Given the description of an element on the screen output the (x, y) to click on. 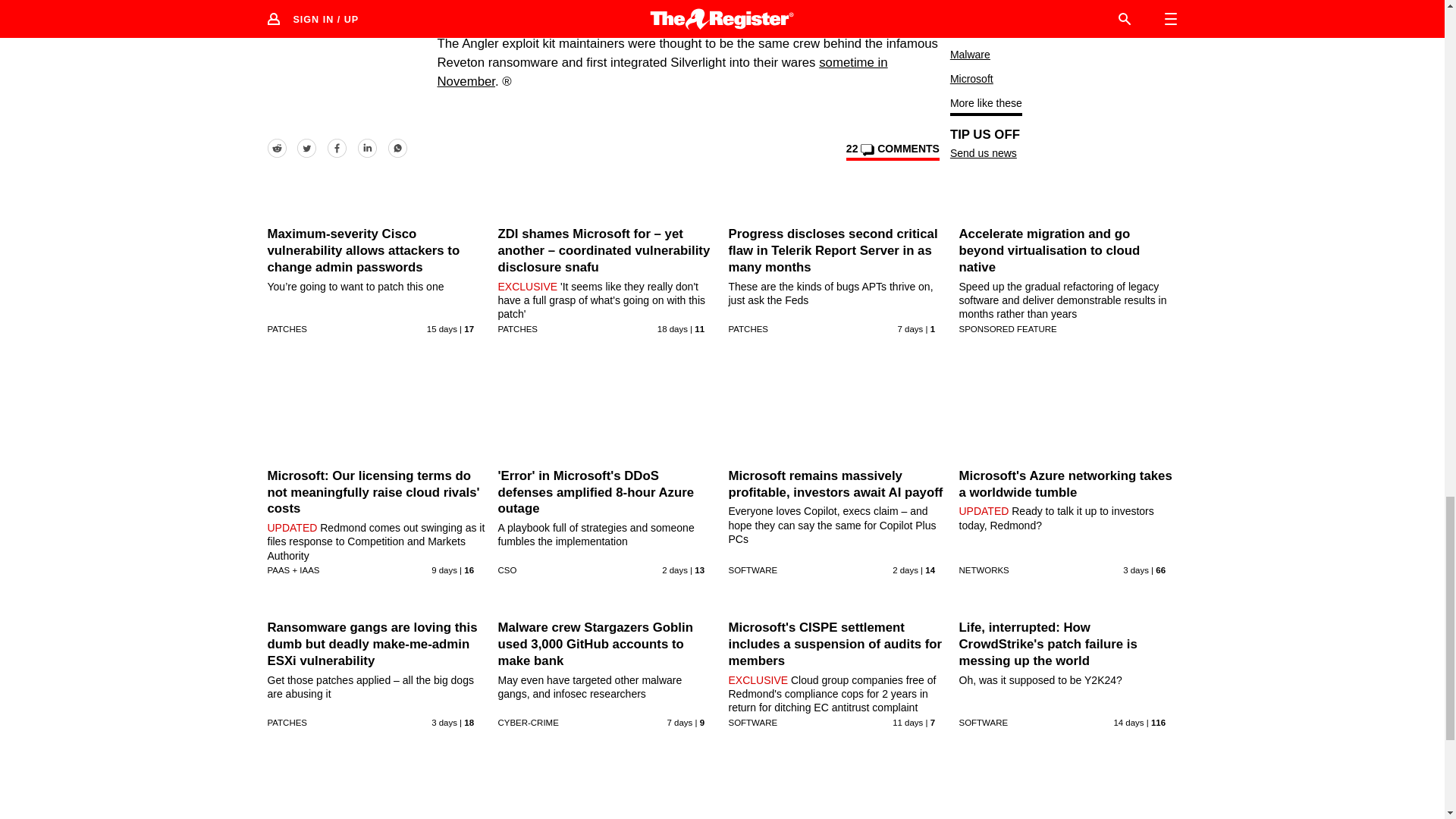
24 Jul 2024 11:34 (443, 569)
View comments on this article (892, 151)
30 Jul 2024 11:16 (443, 722)
26 Jul 2024 13:32 (910, 328)
31 Jul 2024 12:58 (674, 569)
30 Jul 2024 14:6 (1135, 569)
31 Jul 2024 5:38 (905, 569)
15 Jul 2024 15:0 (672, 328)
18 Jul 2024 10:37 (441, 328)
